Given the description of an element on the screen output the (x, y) to click on. 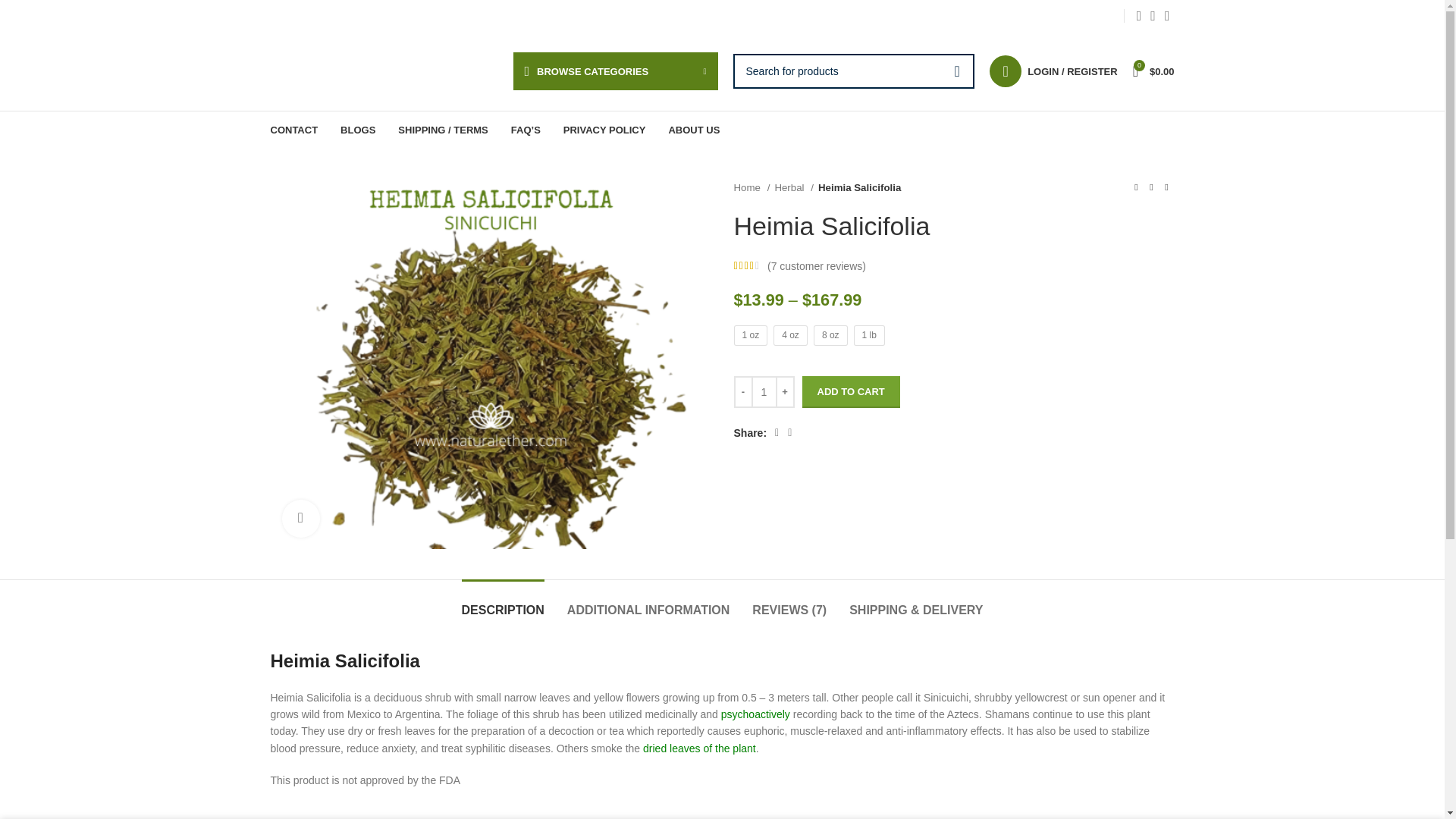
Search for products (853, 71)
Home (751, 187)
My account (1052, 71)
CONTACT (293, 130)
Log in (992, 312)
Shopping cart (1153, 71)
SEARCH (956, 71)
PRIVACY POLICY (604, 130)
ABOUT US (693, 130)
Herbal (793, 187)
BLOGS (357, 130)
